Given the description of an element on the screen output the (x, y) to click on. 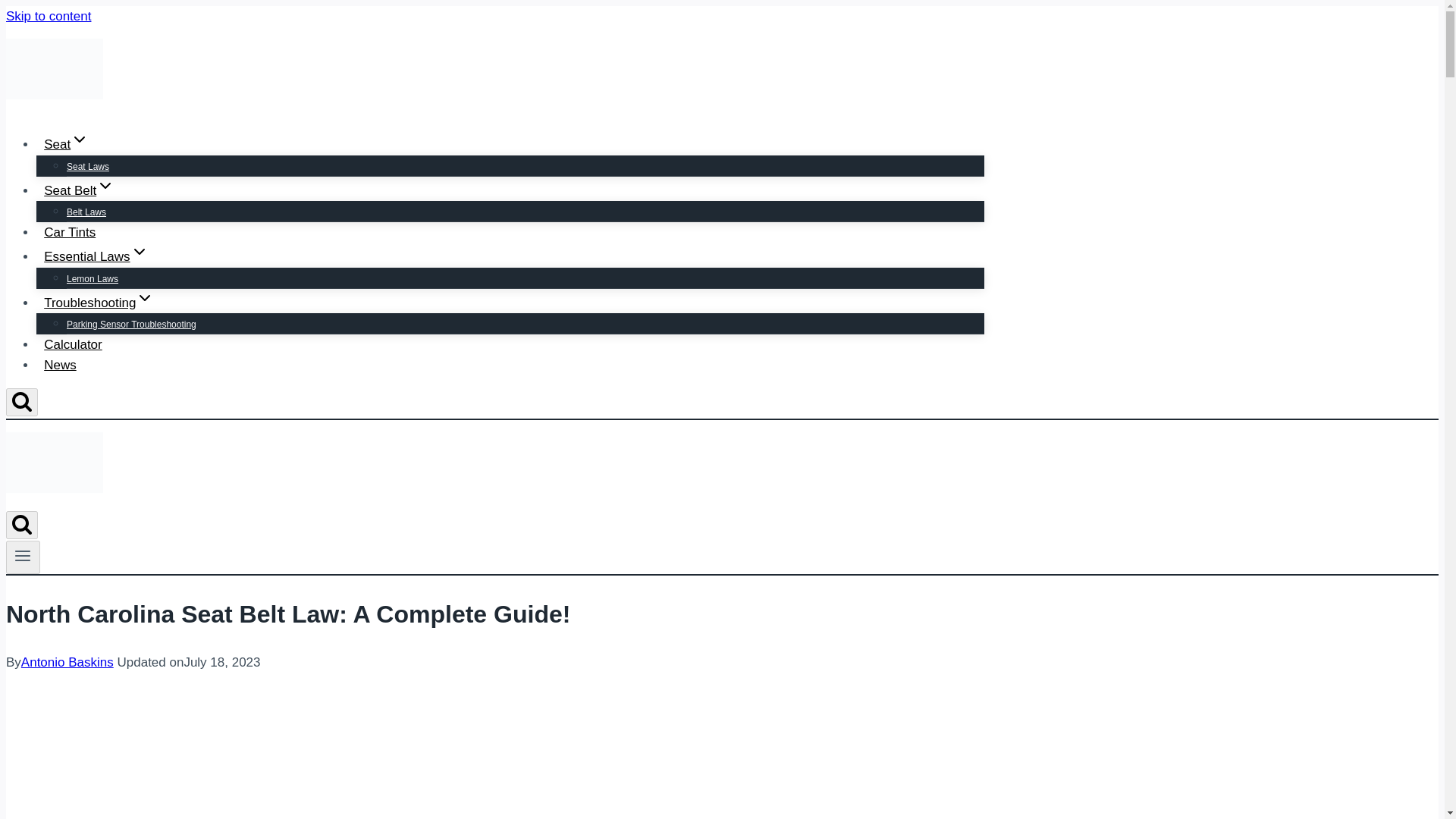
Seat Laws (87, 166)
Search (21, 524)
SeatExpand (66, 143)
Essential LawsExpand (95, 256)
Seat BeltExpand (79, 190)
Toggle Menu (22, 556)
News (60, 365)
TroubleshootingExpand (98, 302)
Search (21, 400)
Parking Sensor Troubleshooting (131, 324)
Search (21, 523)
Calculator (73, 344)
Expand (144, 298)
Expand (78, 139)
Expand (139, 251)
